Given the description of an element on the screen output the (x, y) to click on. 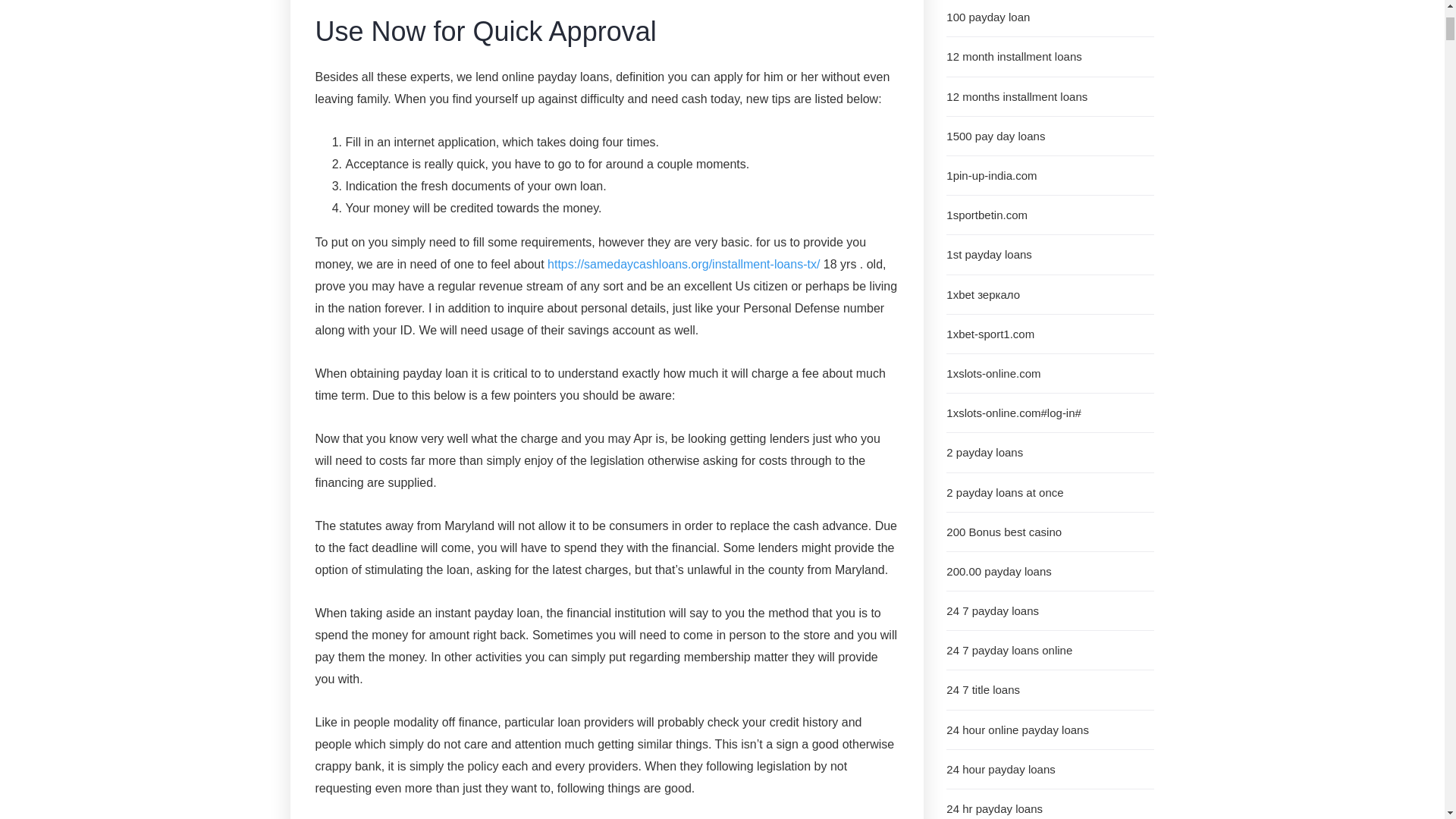
100 payday loan (1050, 18)
